Given the description of an element on the screen output the (x, y) to click on. 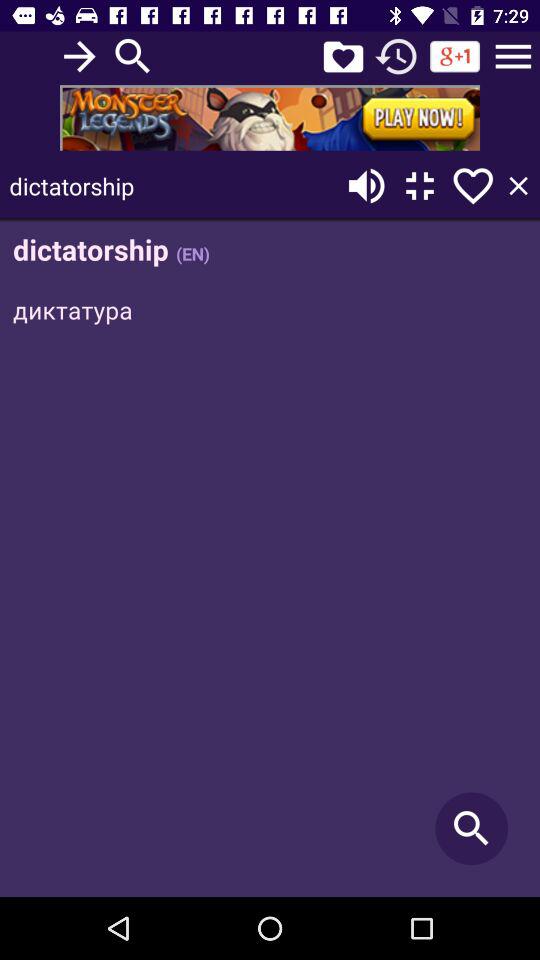
go to sound (366, 185)
